Given the description of an element on the screen output the (x, y) to click on. 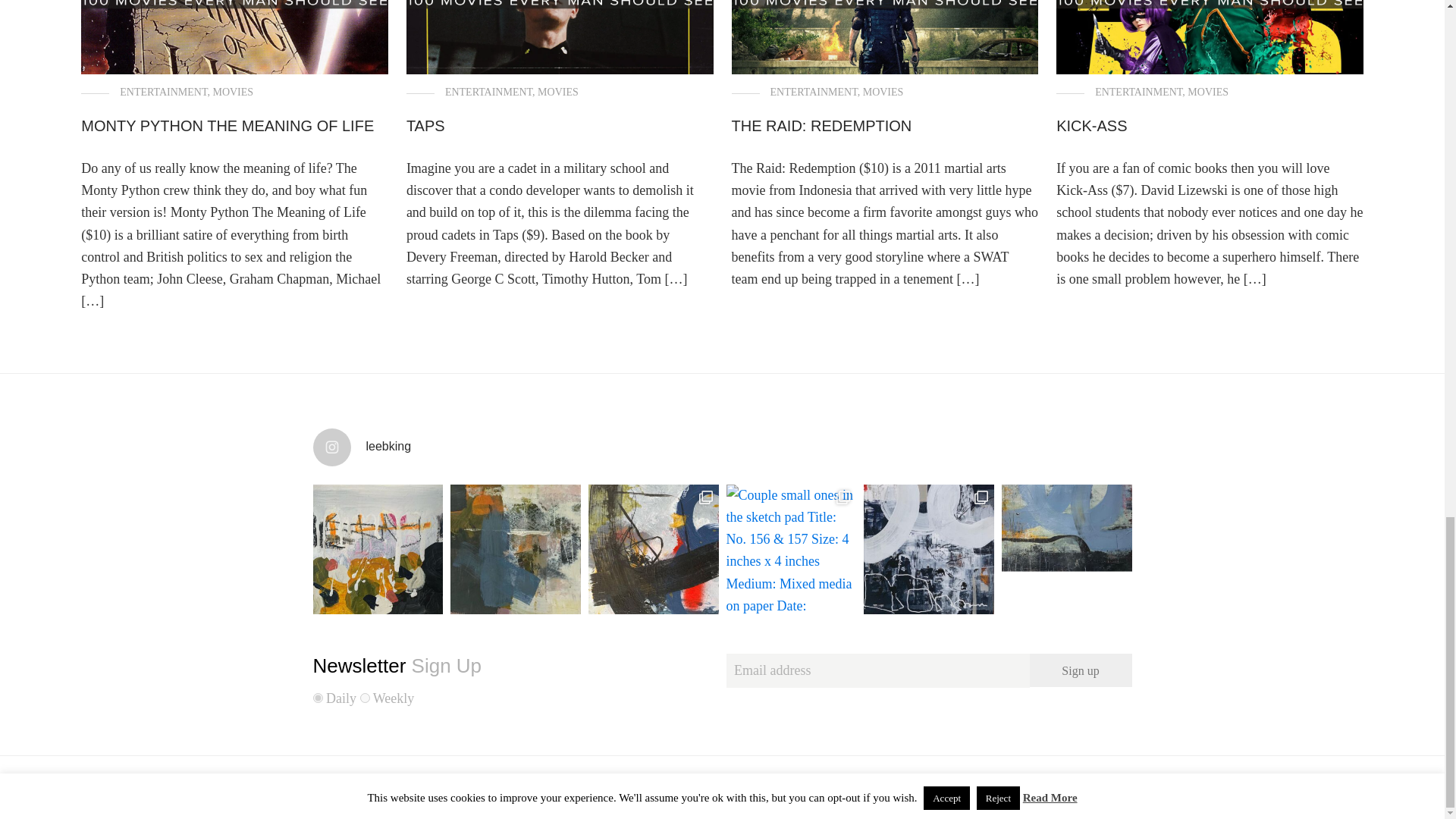
MOVIES (883, 91)
TAPS (425, 125)
ENTERTAINMENT (162, 91)
Sign up (1080, 670)
MOVIES (1208, 91)
MONTY PYTHON THE MEANING OF LIFE (227, 125)
ENTERTAINMENT (1138, 91)
37a28a1e5b (364, 697)
b0e6f4f9f6 (317, 697)
MOVIES (557, 91)
